Given the description of an element on the screen output the (x, y) to click on. 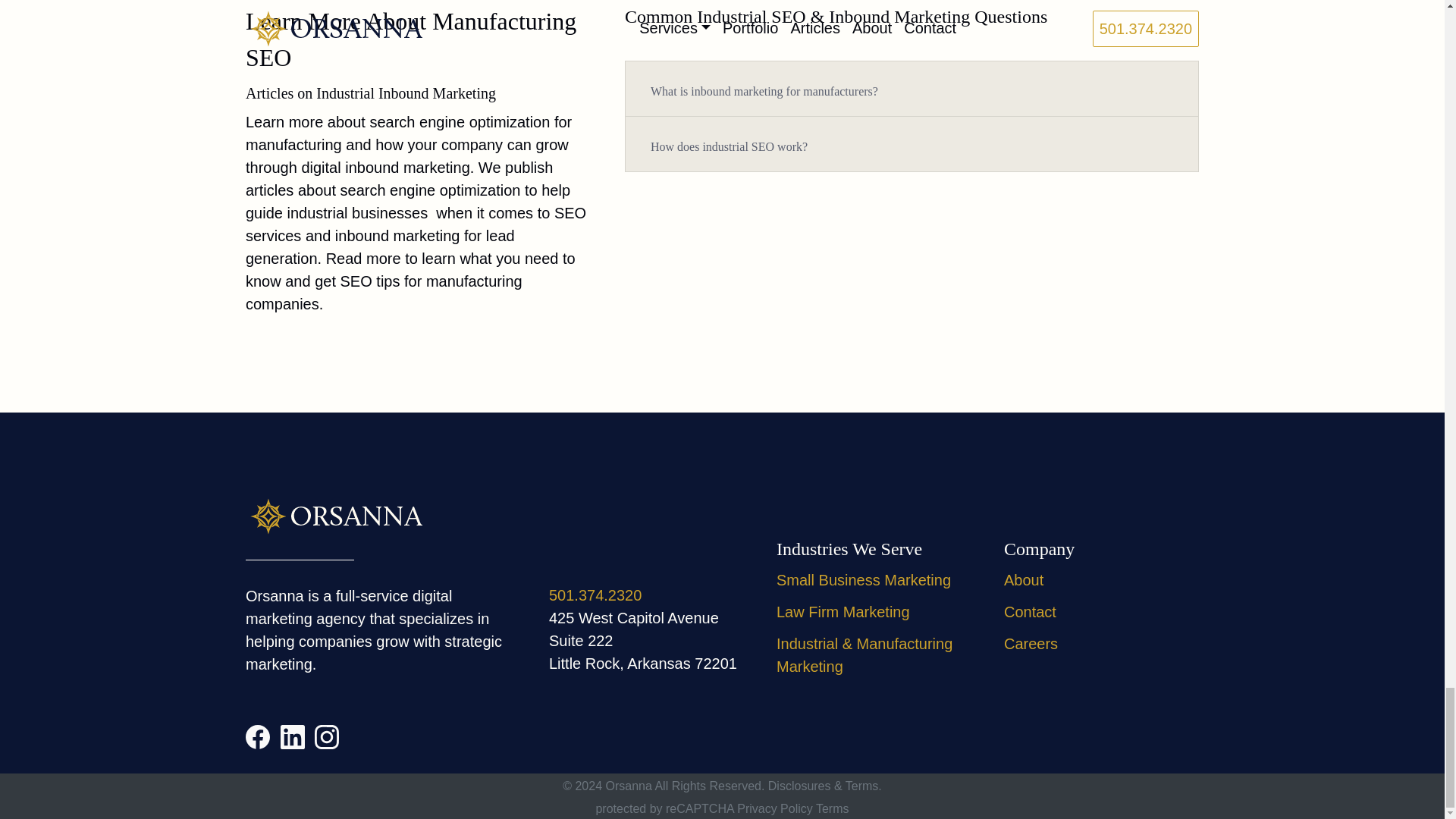
Law Firm Marketing (843, 611)
501.374.2320 (595, 595)
Contact (1030, 611)
Careers (1031, 643)
Small Business Marketing (863, 579)
What is inbound marketing for manufacturers? (764, 91)
Privacy Policy (774, 808)
How does industrial SEO work? (728, 146)
About (1023, 579)
